Given the description of an element on the screen output the (x, y) to click on. 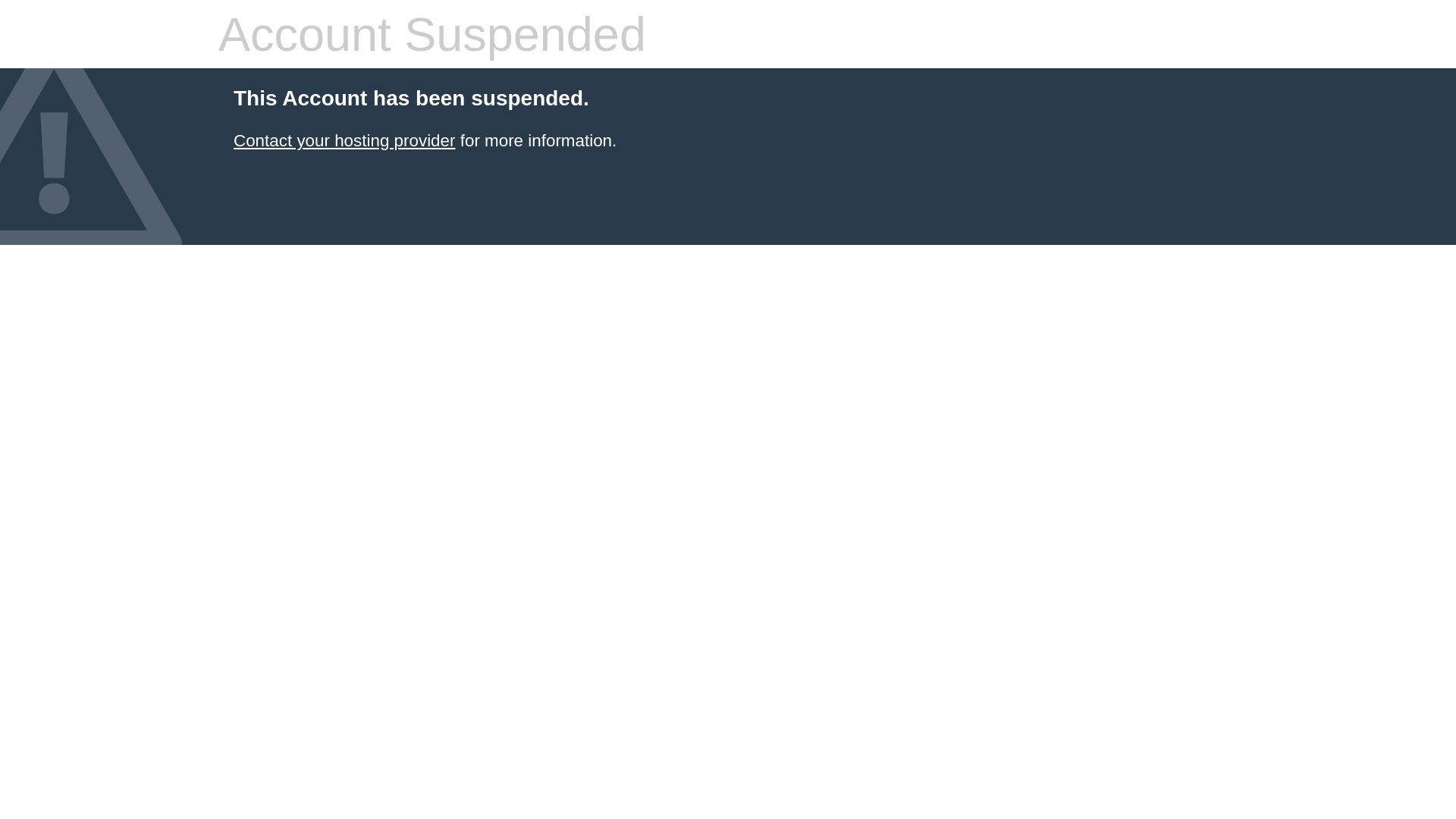
Contact your hosting provider Element type: text (344, 140)
